Given the description of an element on the screen output the (x, y) to click on. 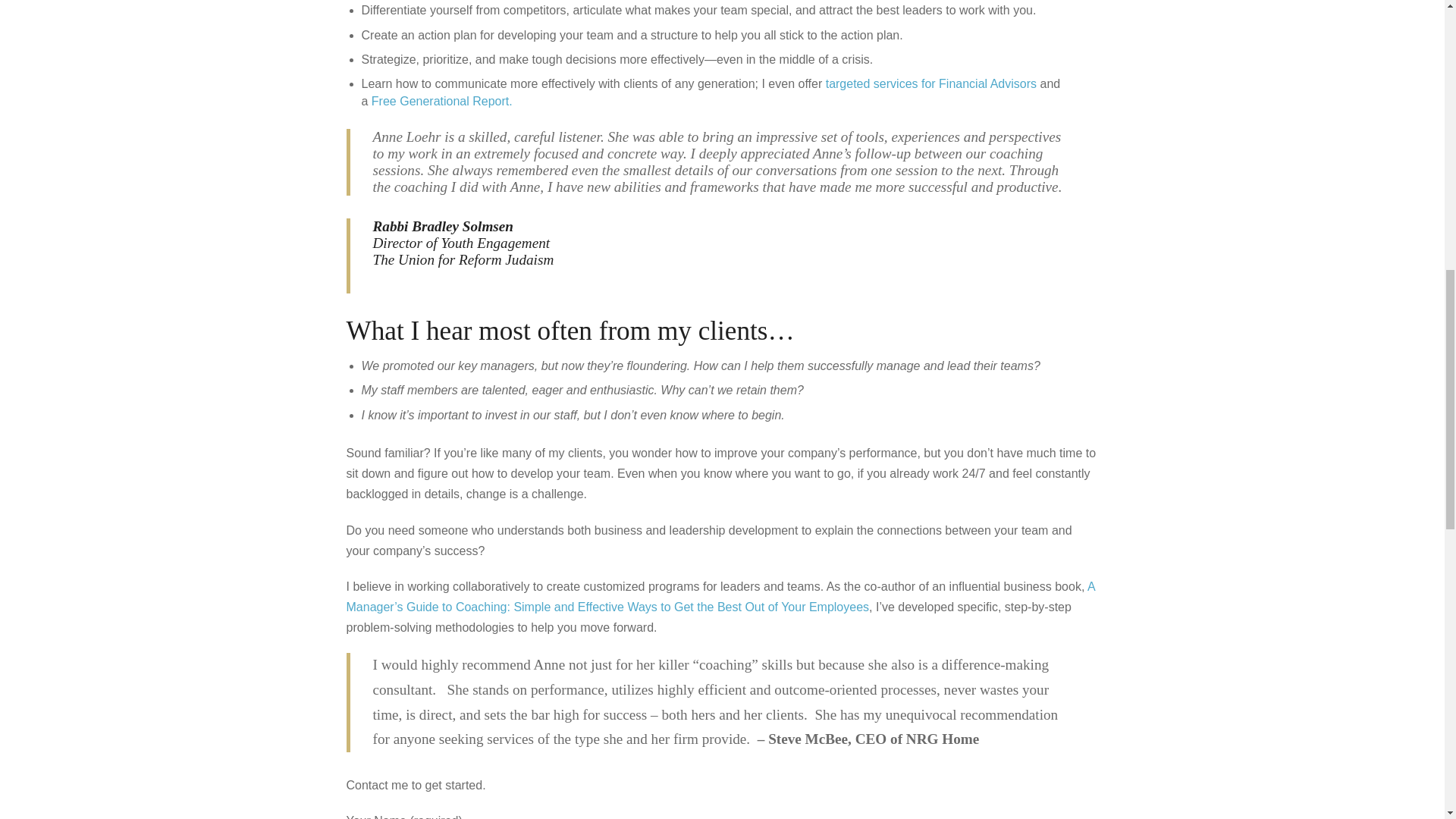
targeted services for Financial Advisors (930, 83)
Free Generational Report for Financial Advisors (441, 101)
Preparing Financial Advisors for Success (930, 83)
Free Generational Report. (441, 101)
